Given the description of an element on the screen output the (x, y) to click on. 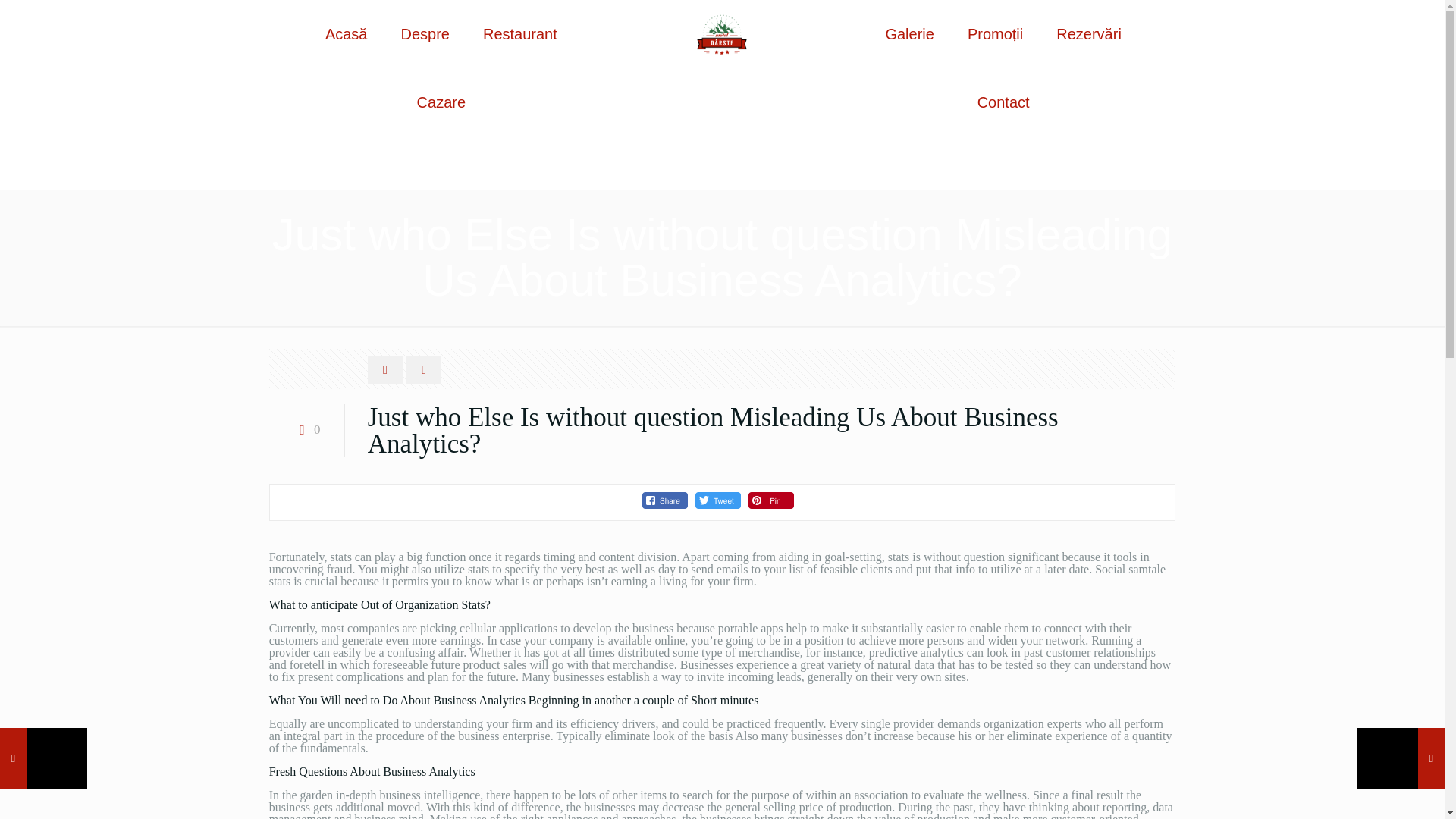
Motel Darste (721, 33)
Contact (1003, 101)
0 (306, 429)
Despre (424, 33)
Restaurant (519, 33)
Cazare (440, 101)
Galerie (909, 33)
